Given the description of an element on the screen output the (x, y) to click on. 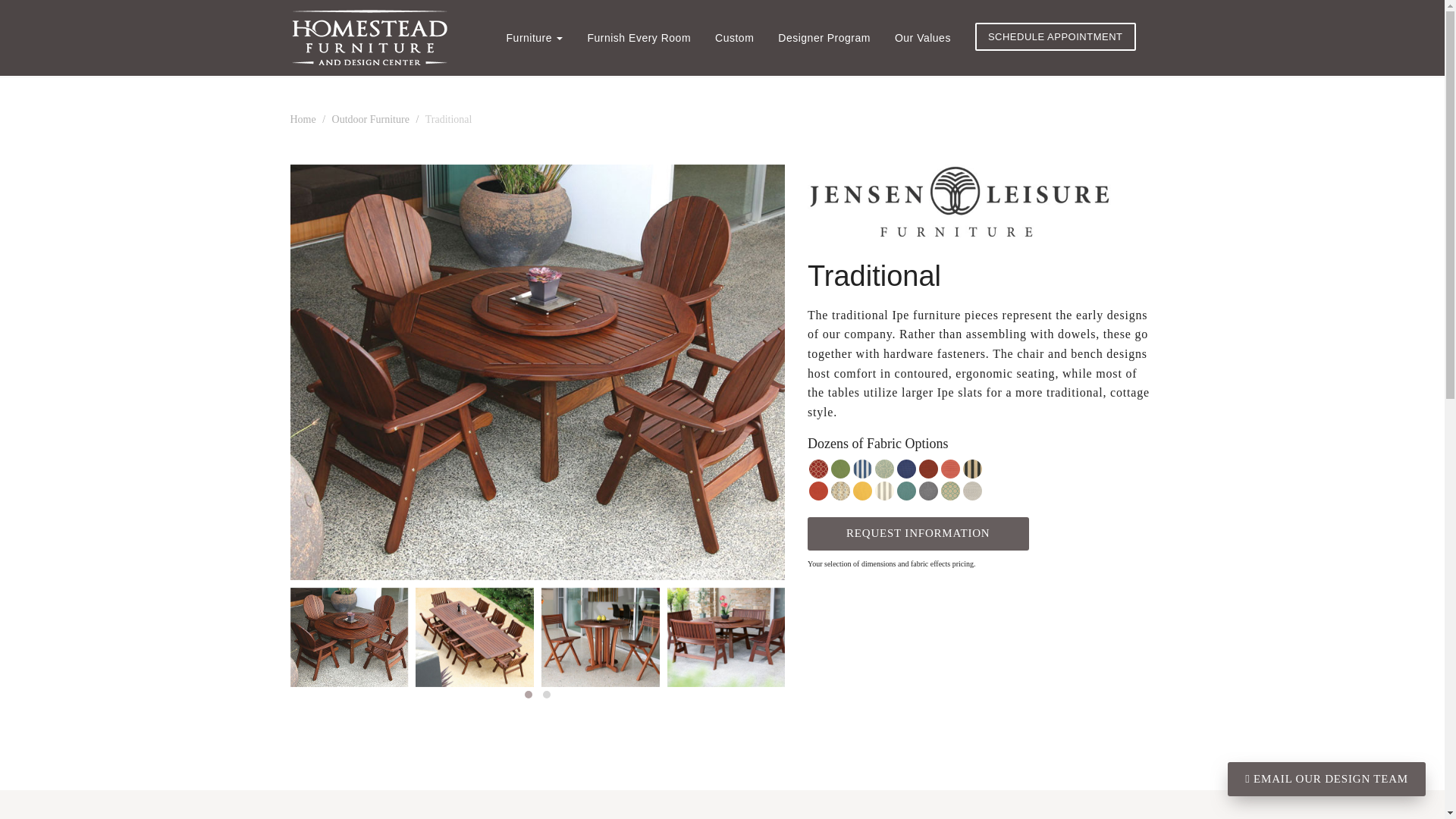
Palette Cadmium Yellow (862, 490)
Regency Sand (884, 490)
Designer Program (823, 38)
Cabana Regatta (862, 468)
REQUEST INFORMATION (917, 532)
Schedule Appointment (1055, 36)
Echo Sangria (818, 490)
Outdoor Furniture (370, 119)
Canvas Navy (905, 468)
Bengali Bamboo (840, 468)
